Given the description of an element on the screen output the (x, y) to click on. 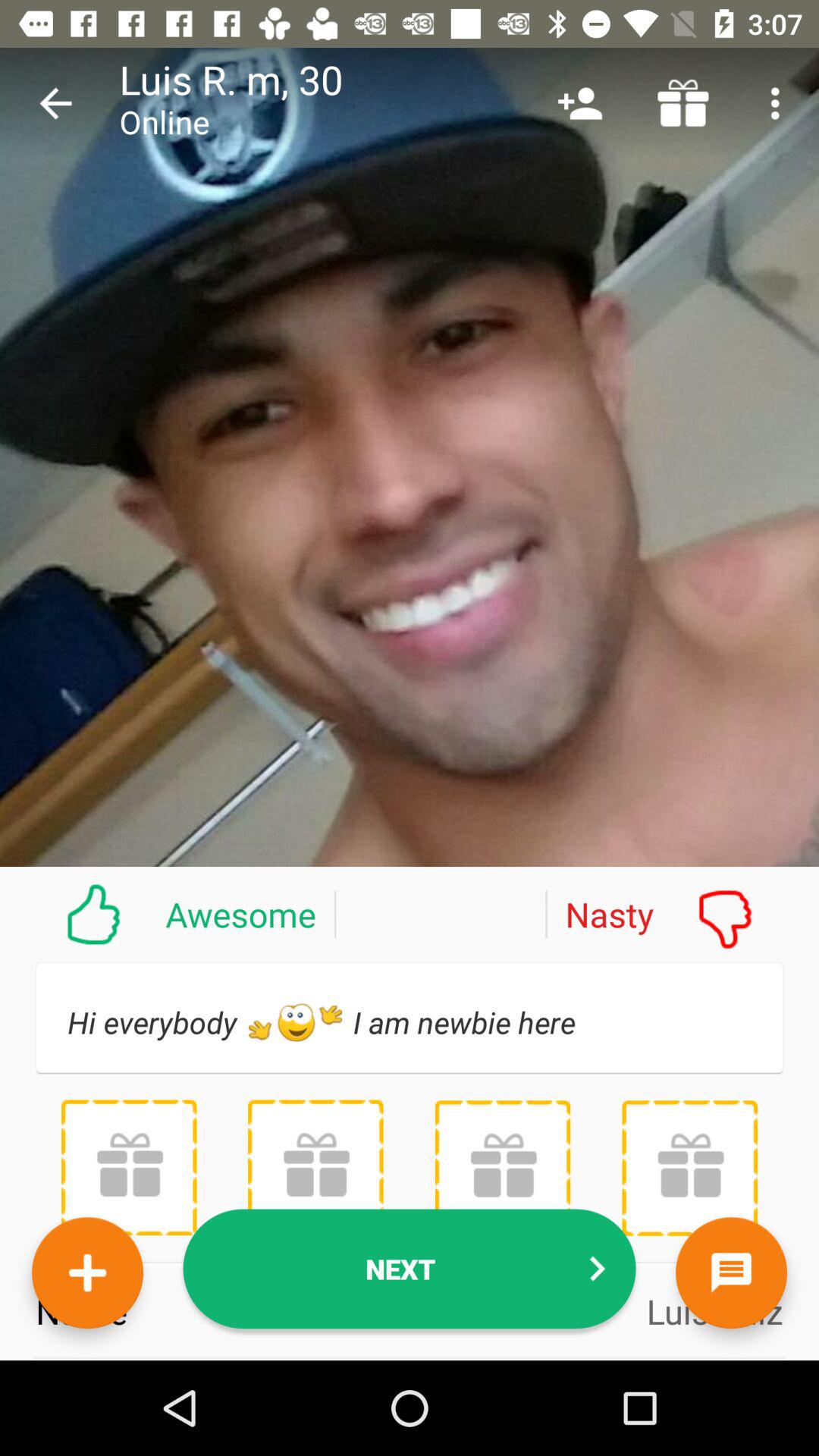
press icon to the right of  m, 30 item (579, 103)
